Given the description of an element on the screen output the (x, y) to click on. 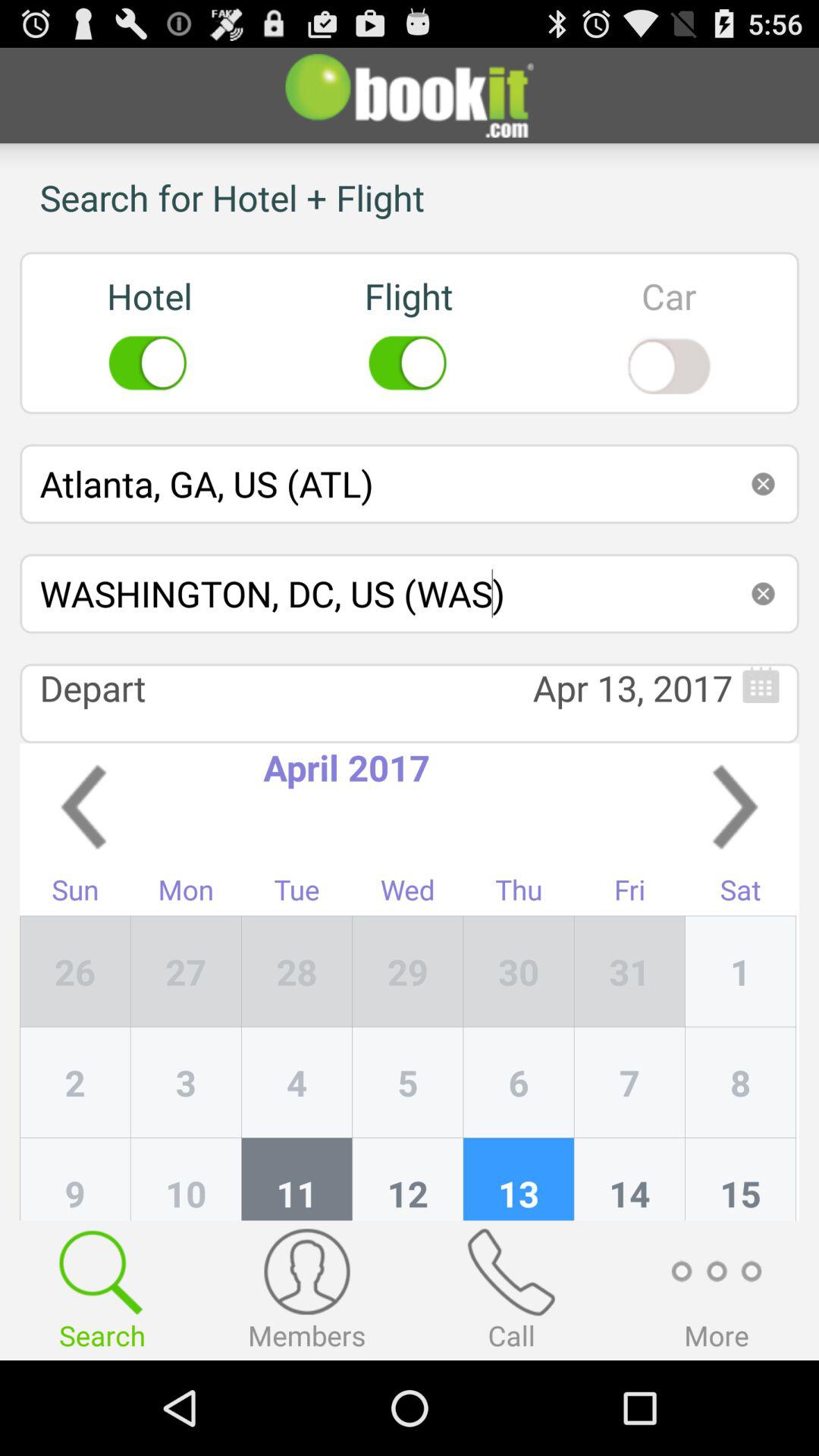
choose item below 6 item (629, 1179)
